Given the description of an element on the screen output the (x, y) to click on. 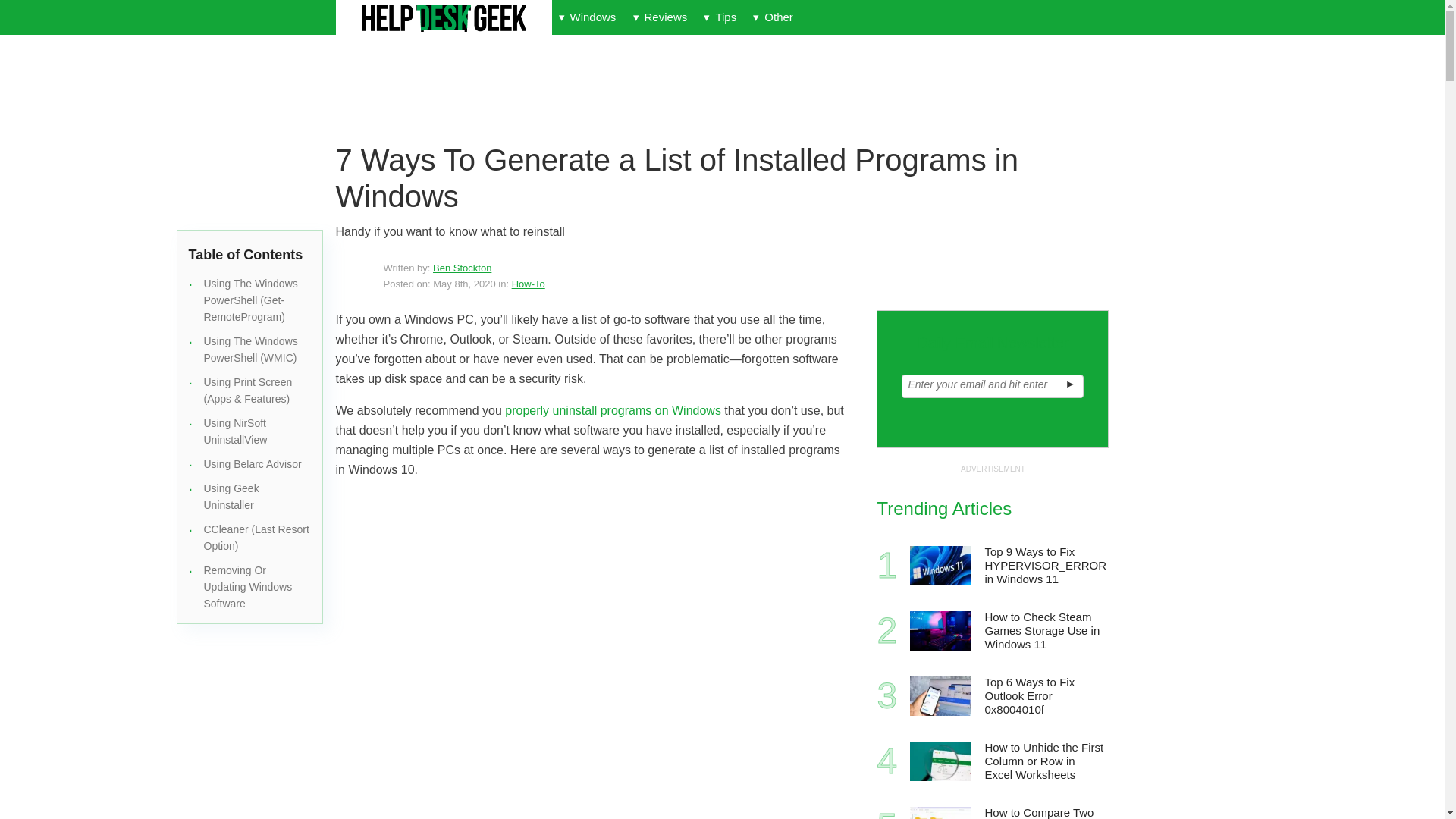
Windows (587, 17)
Top 6 Ways to Fix Outlook Error 0x8004010f (1044, 695)
Tips (719, 17)
How to Check Steam Games Storage Use in Windows 11 (1044, 630)
How to Unhide the First Column or Row in Excel Worksheets (1044, 760)
Help Desk Geek (443, 17)
Reviews (660, 17)
Other (772, 17)
Friday, May 8, 2020, 6:00 pm (463, 283)
Top 6 Ways to Fix Outlook Error 0x8004010f (940, 695)
